Given the description of an element on the screen output the (x, y) to click on. 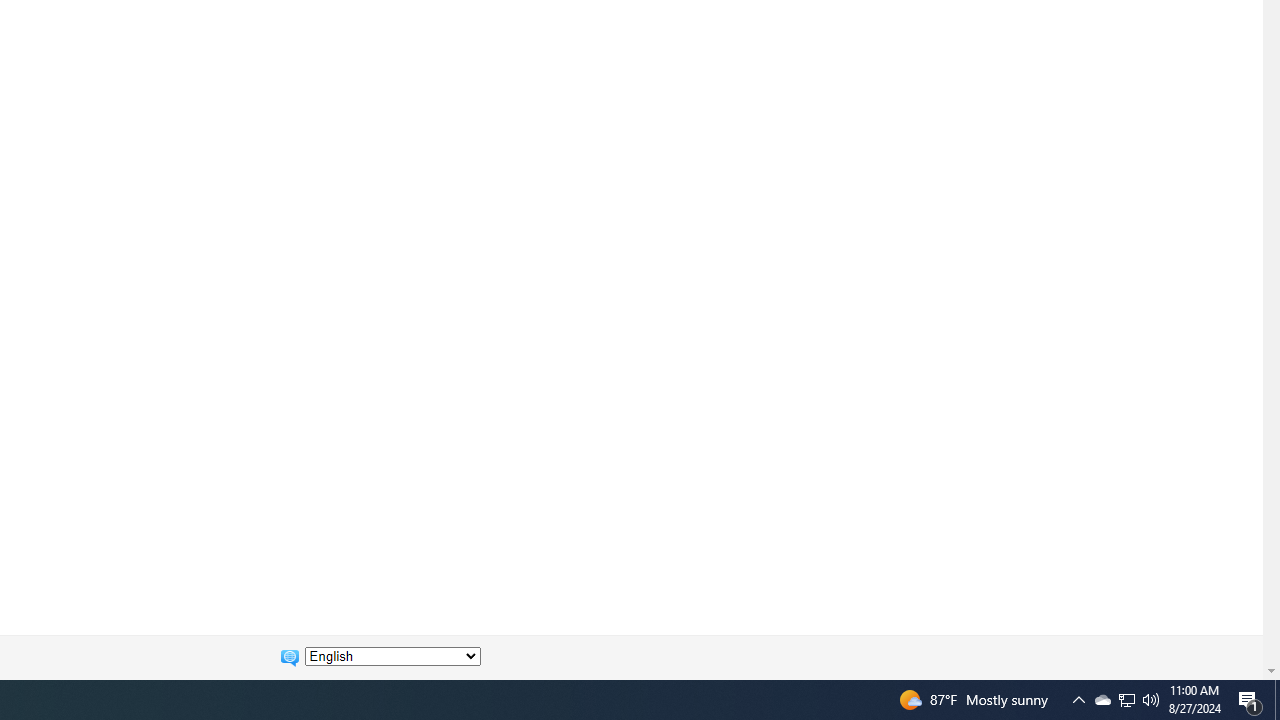
Change language: (392, 656)
